Given the description of an element on the screen output the (x, y) to click on. 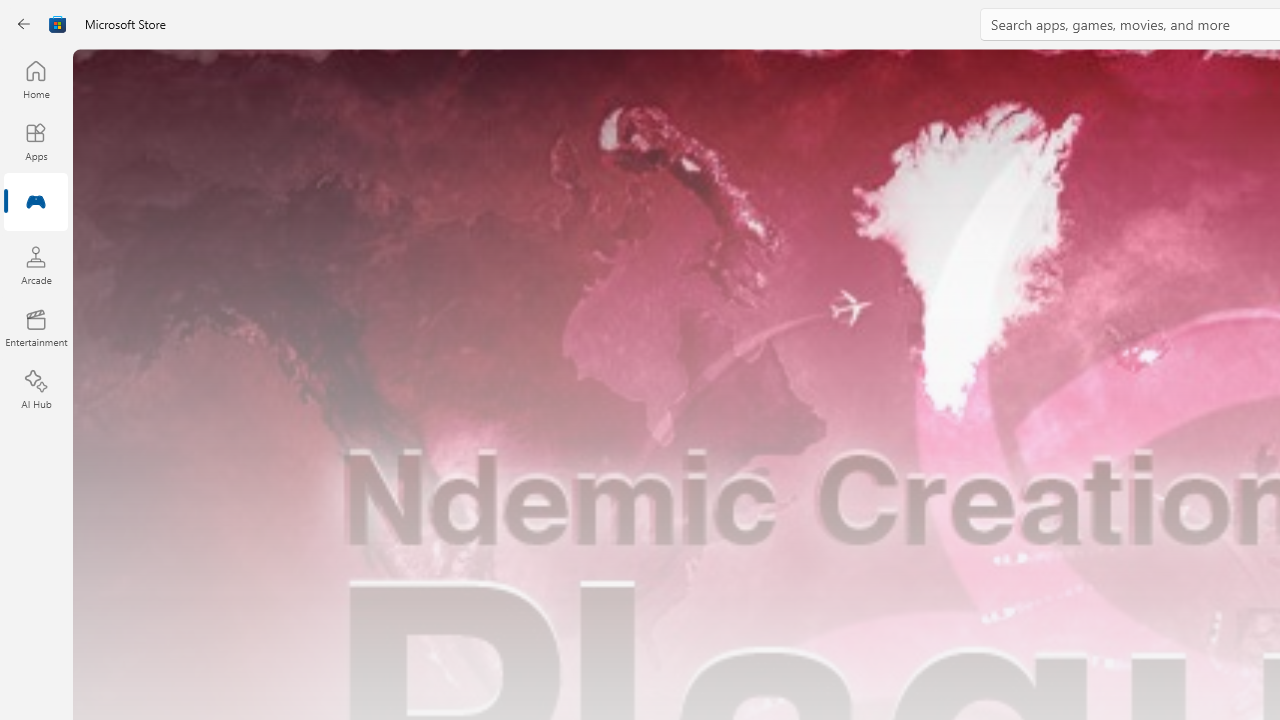
AI Hub (35, 390)
Home (35, 79)
Class: Image (58, 24)
Arcade (35, 265)
Back (24, 24)
Gaming (35, 203)
Entertainment (35, 327)
Apps (35, 141)
